Given the description of an element on the screen output the (x, y) to click on. 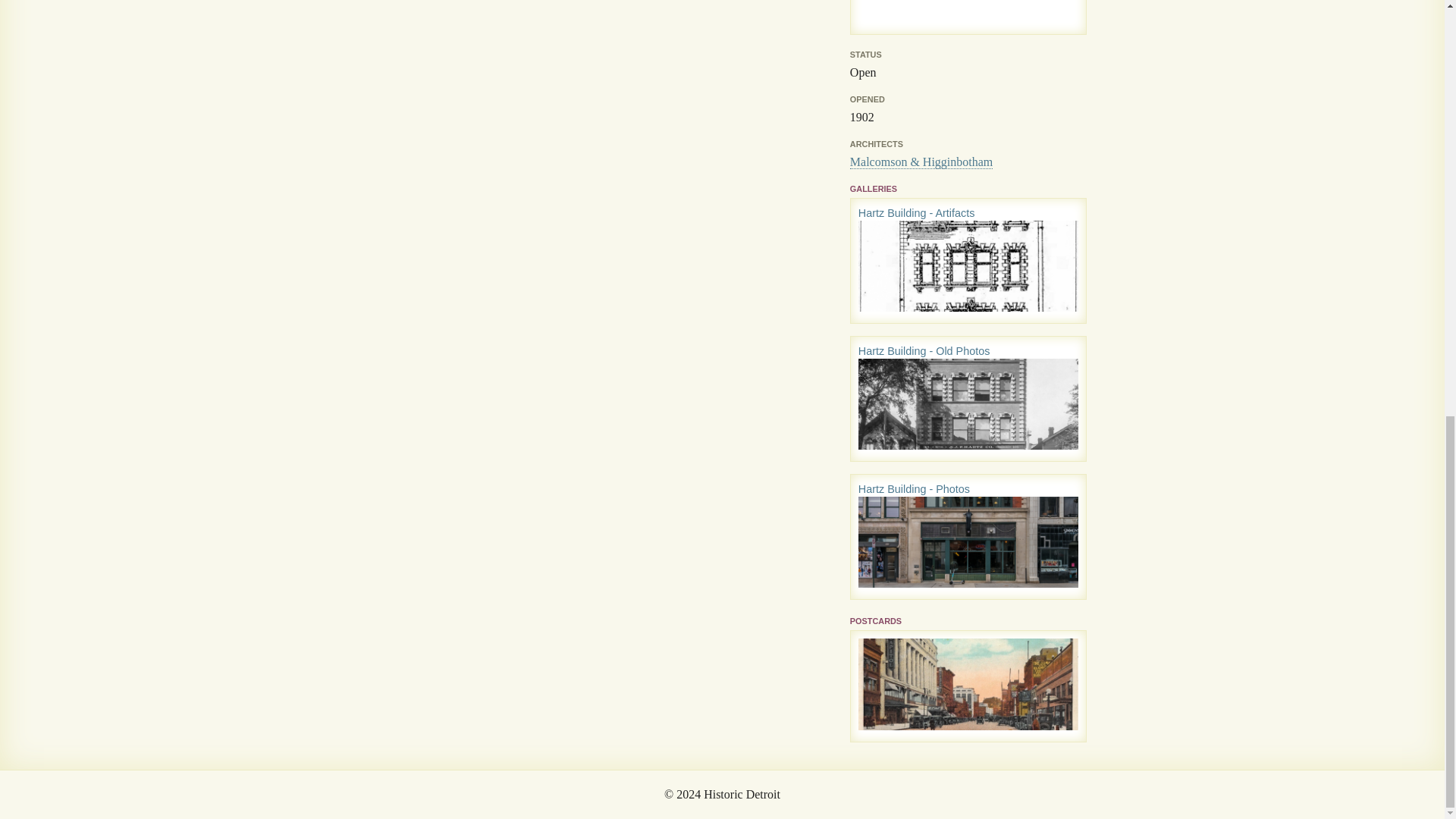
Hartz Building - Photos (914, 489)
Hartz Building - Old Photos (924, 350)
Hartz Building - Artifacts (917, 213)
